Given the description of an element on the screen output the (x, y) to click on. 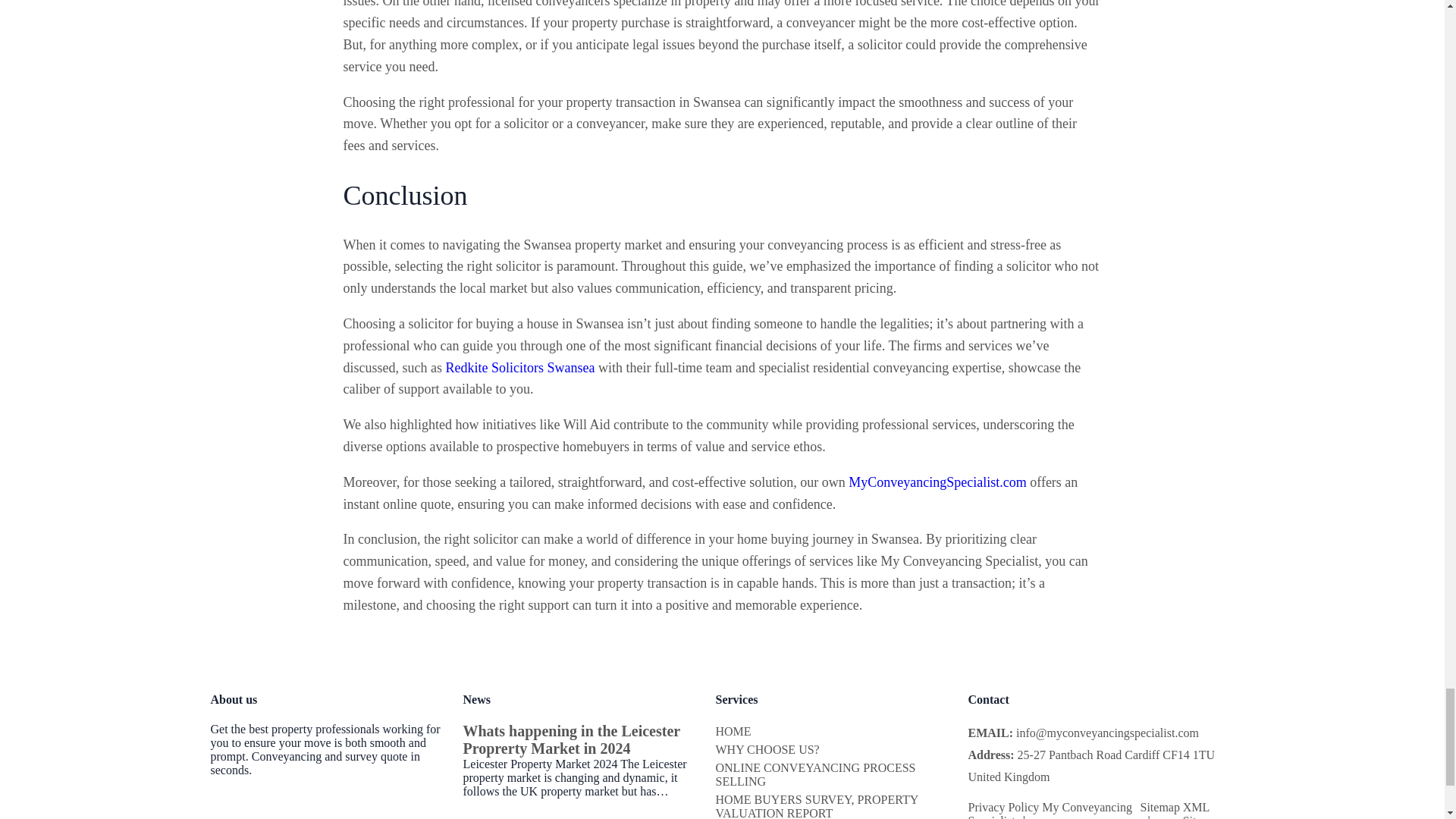
HOME BUYERS SURVEY, PROPERTY VALUATION REPORT (817, 806)
Redkite Solicitors Swansea (519, 367)
Whats happening in the Leicester Proprerty Market in 2024 (571, 739)
MyConveyancingSpecialist.com (937, 482)
XML Sitemap (1202, 809)
HOME (733, 730)
Privacy Policy My Conveyancing Specialist (1049, 809)
News (476, 698)
ONLINE CONVEYANCING PROCESS SELLING (815, 774)
Sitemap (1159, 807)
WHY CHOOSE US? (767, 748)
